Given the description of an element on the screen output the (x, y) to click on. 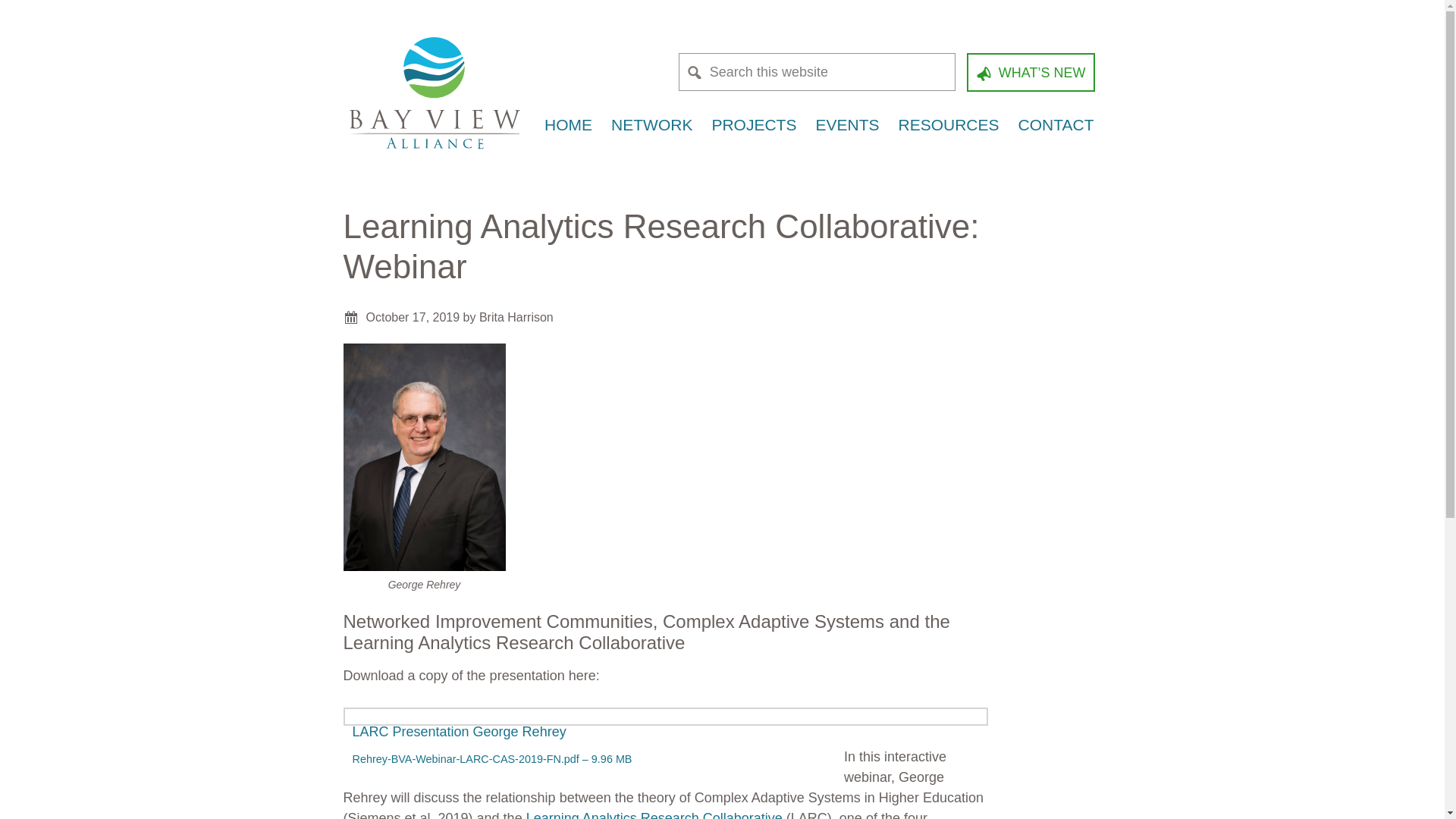
Download LARC Presentation George Rehrey (664, 716)
PROJECTS (753, 124)
RESOURCES (949, 124)
CONTACT (1056, 124)
NETWORK (652, 124)
EVENTS (847, 124)
Bay View Alliance (424, 81)
HOME (568, 124)
Learning Analytics Research Collaborative (654, 814)
